Given the description of an element on the screen output the (x, y) to click on. 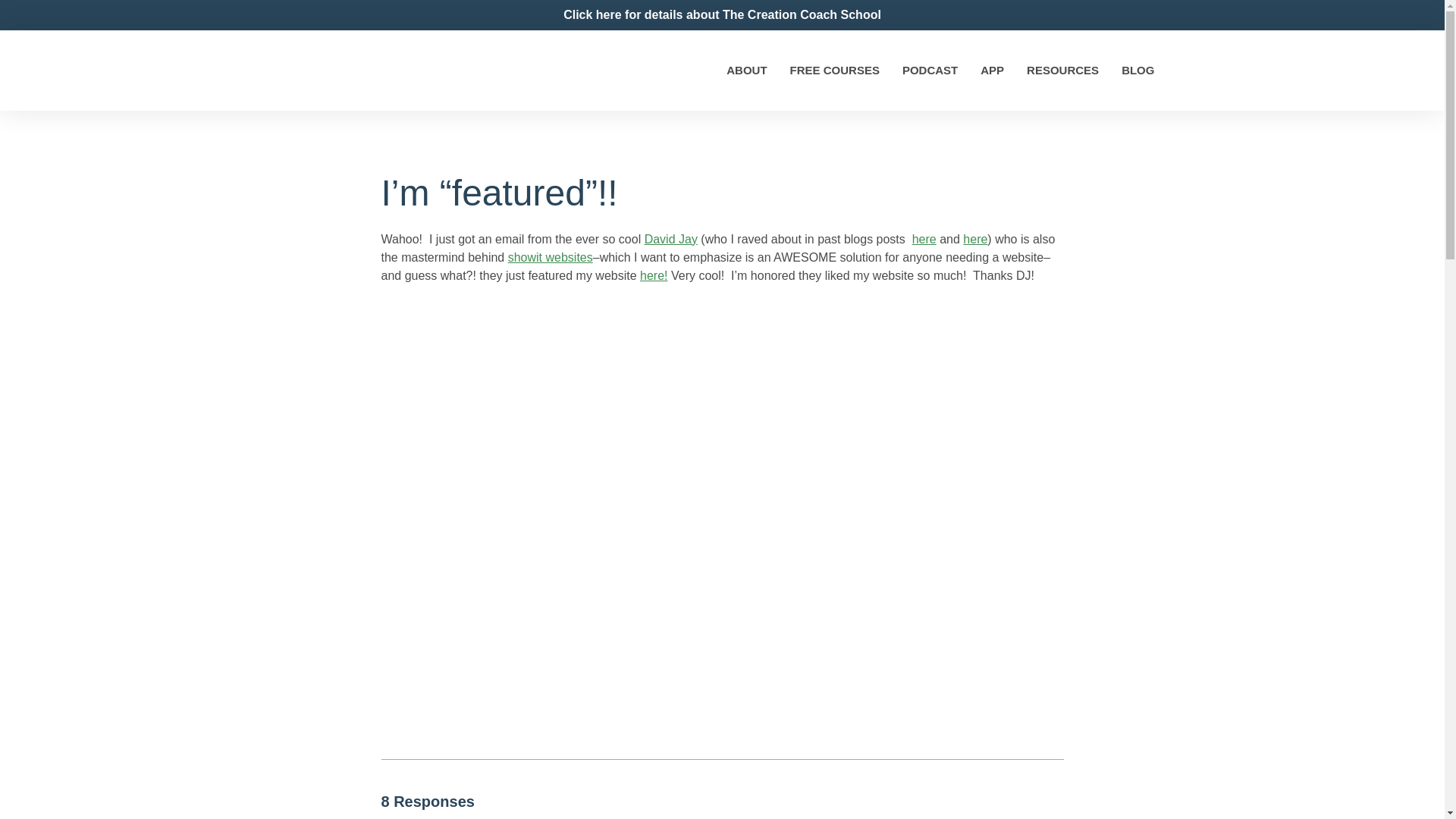
PODCAST (930, 70)
here! (653, 275)
BLOG (1137, 70)
here (974, 238)
showit websites (550, 256)
RESOURCES (1062, 70)
ABOUT (746, 70)
David Jay (671, 238)
FREE COURSES (834, 70)
